Given the description of an element on the screen output the (x, y) to click on. 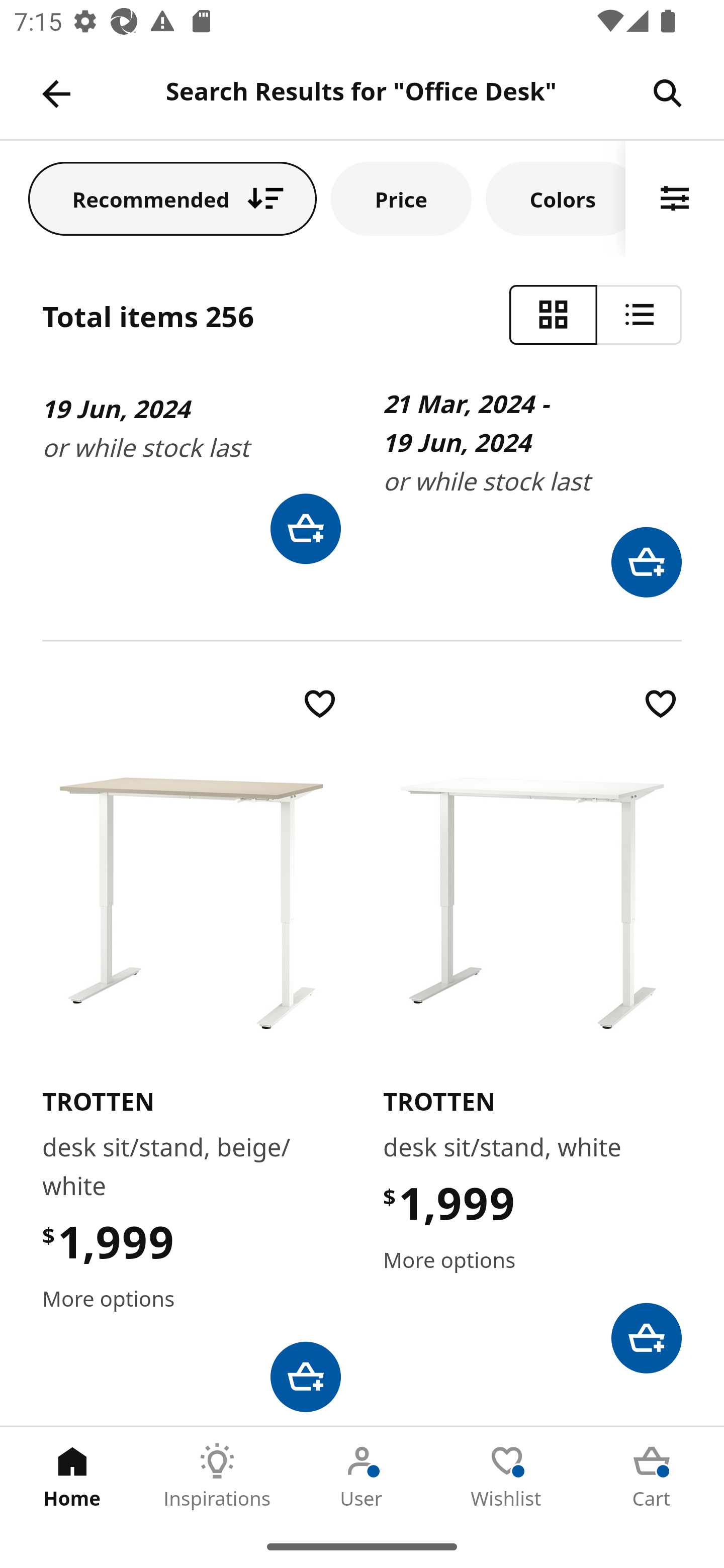
Recommended (172, 198)
Price (400, 198)
Colors (555, 198)
Home
Tab 1 of 5 (72, 1476)
Inspirations
Tab 2 of 5 (216, 1476)
User
Tab 3 of 5 (361, 1476)
Wishlist
Tab 4 of 5 (506, 1476)
Cart
Tab 5 of 5 (651, 1476)
